Given the description of an element on the screen output the (x, y) to click on. 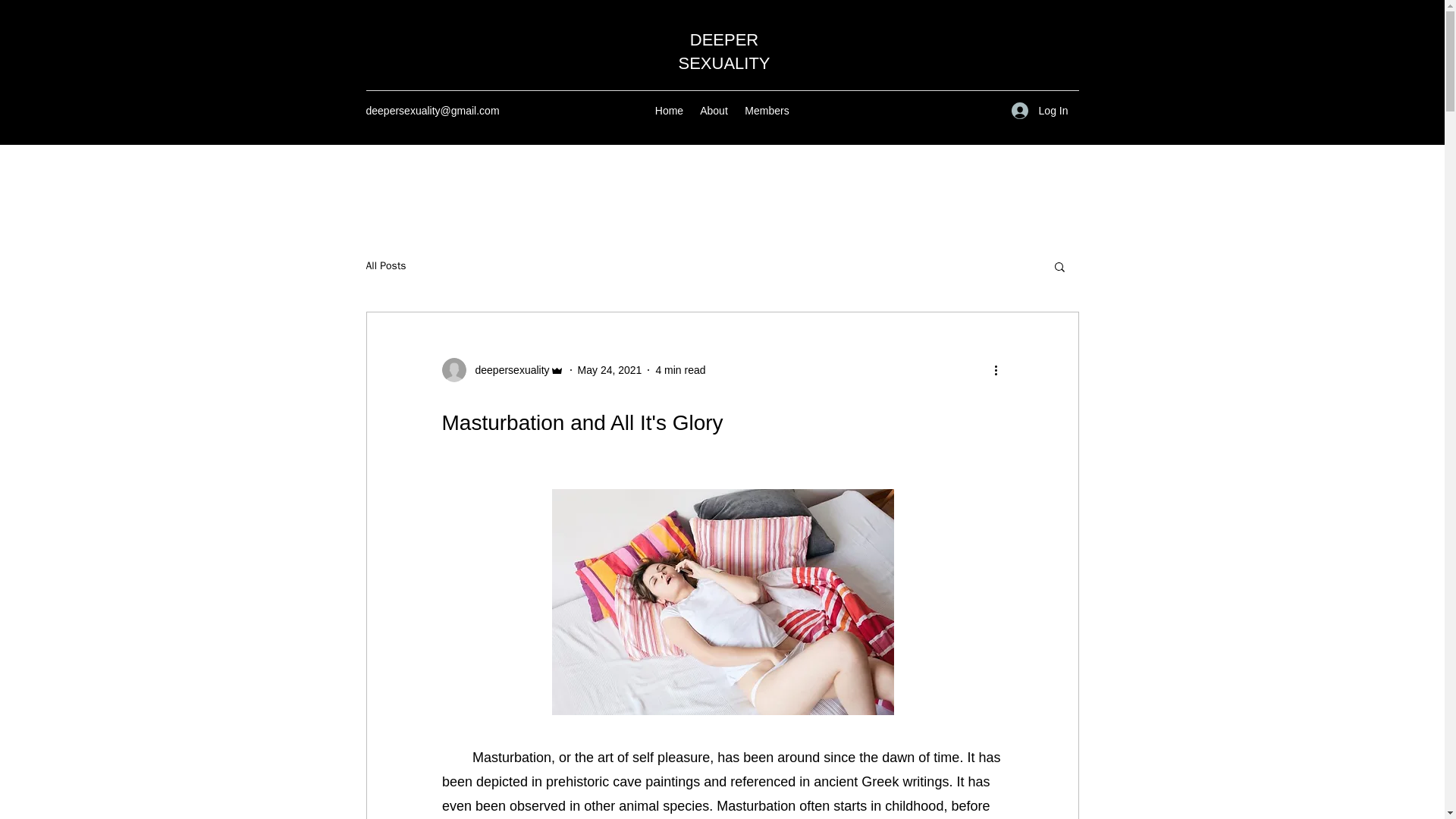
All Posts (385, 265)
deepersexuality (502, 369)
4 min read (679, 369)
DEEPER SEXUALITY (724, 51)
Members (766, 110)
Home (669, 110)
deepersexuality (506, 370)
May 24, 2021 (610, 369)
Log In (1039, 111)
About (713, 110)
